Given the description of an element on the screen output the (x, y) to click on. 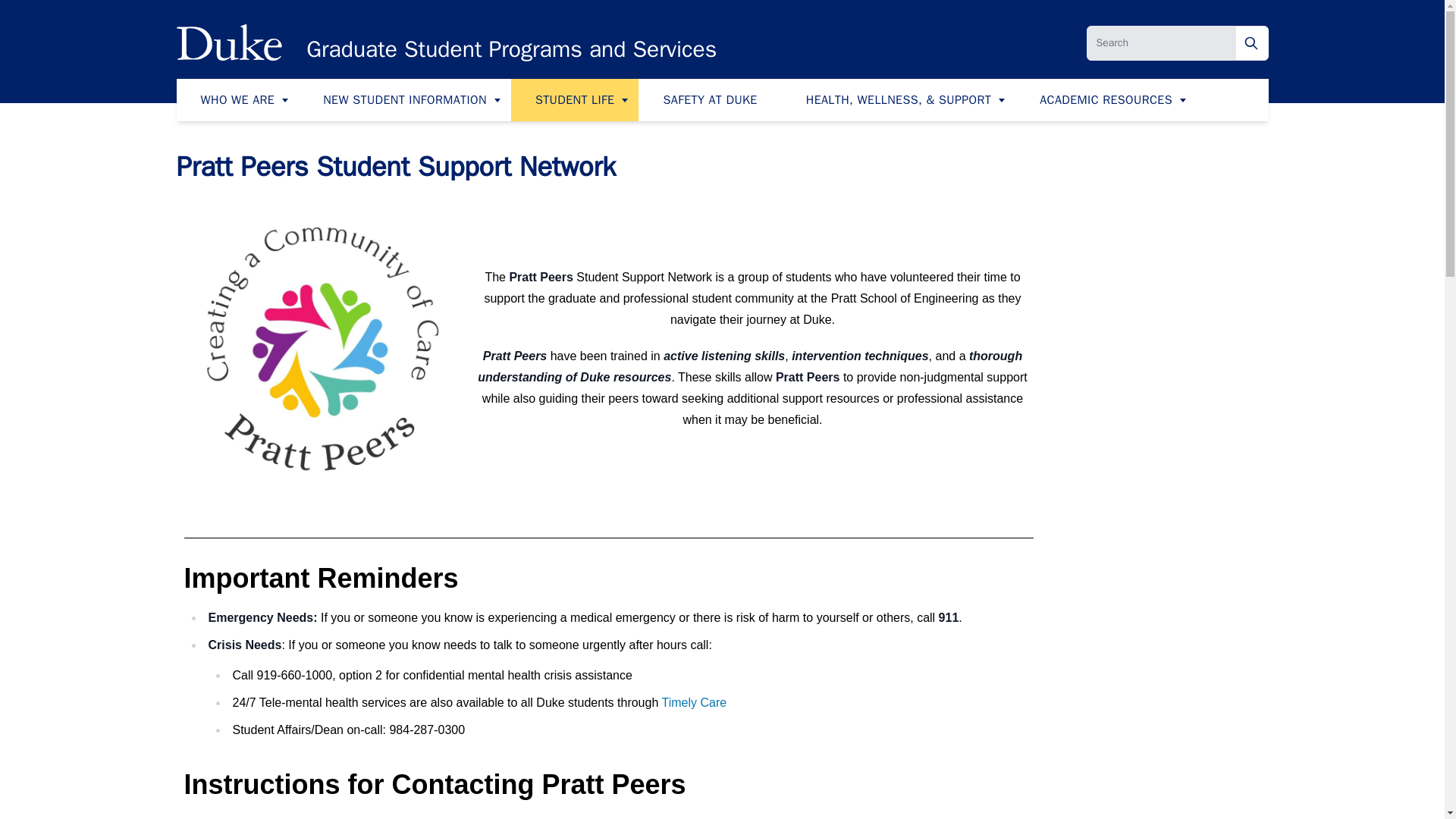
STUDENT LIFE (575, 99)
Search (1252, 42)
ACADEMIC RESOURCES (1105, 99)
Graduate Student Programs and Services (510, 48)
SAFETY AT DUKE (709, 99)
Skip to content (40, 21)
NEW STUDENT INFORMATION (404, 99)
WHO WE ARE (237, 99)
